Given the description of an element on the screen output the (x, y) to click on. 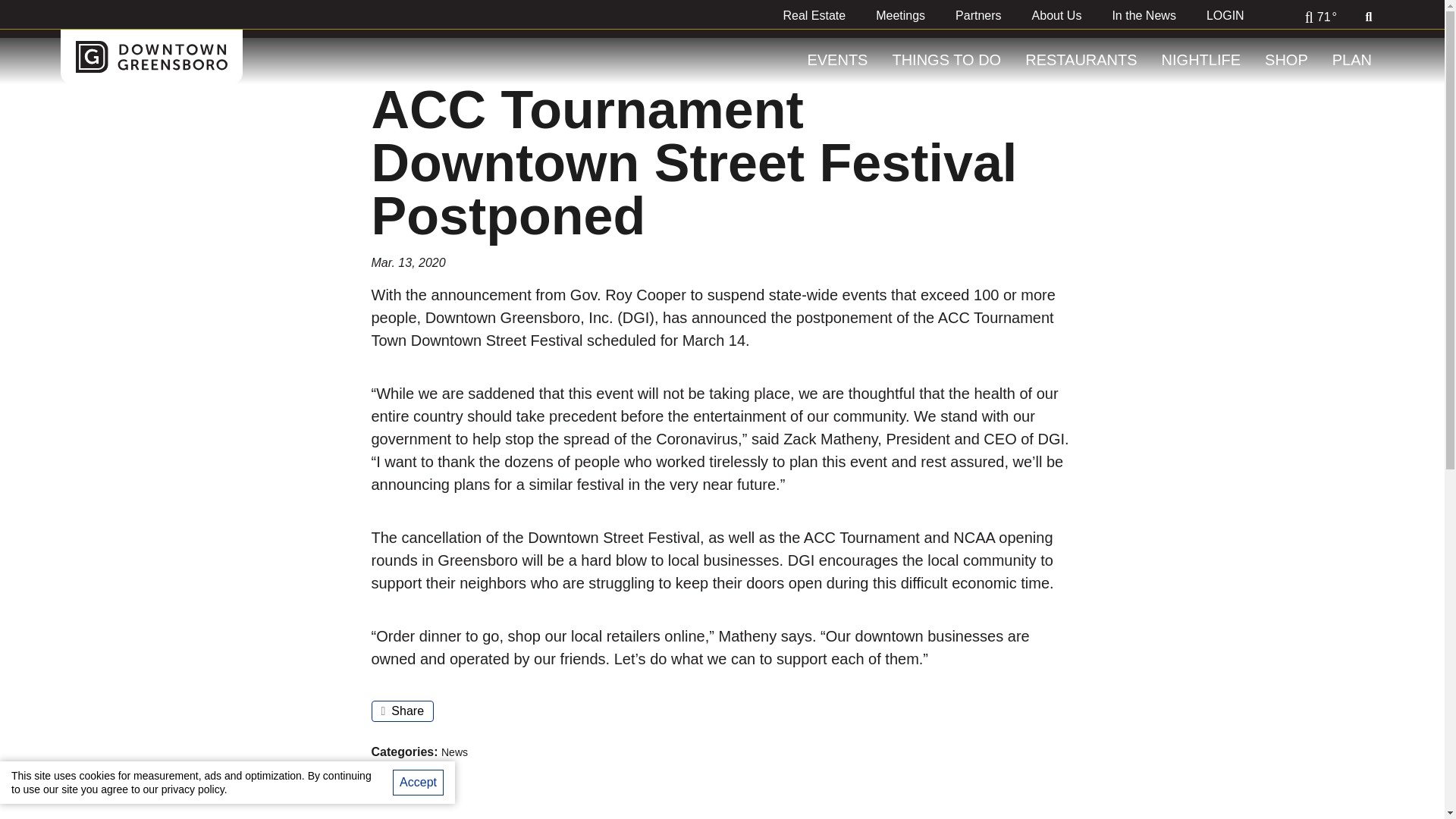
Meetings (900, 15)
EVENTS (836, 59)
THINGS TO DO (946, 59)
About Us (1056, 15)
RESTAURANTS (1080, 59)
In the News (1143, 15)
PLAN (1352, 59)
Real Estate (813, 15)
NIGHTLIFE (1201, 59)
Partners (978, 15)
LOGIN (1225, 15)
SHOP (1286, 59)
